Given the description of an element on the screen output the (x, y) to click on. 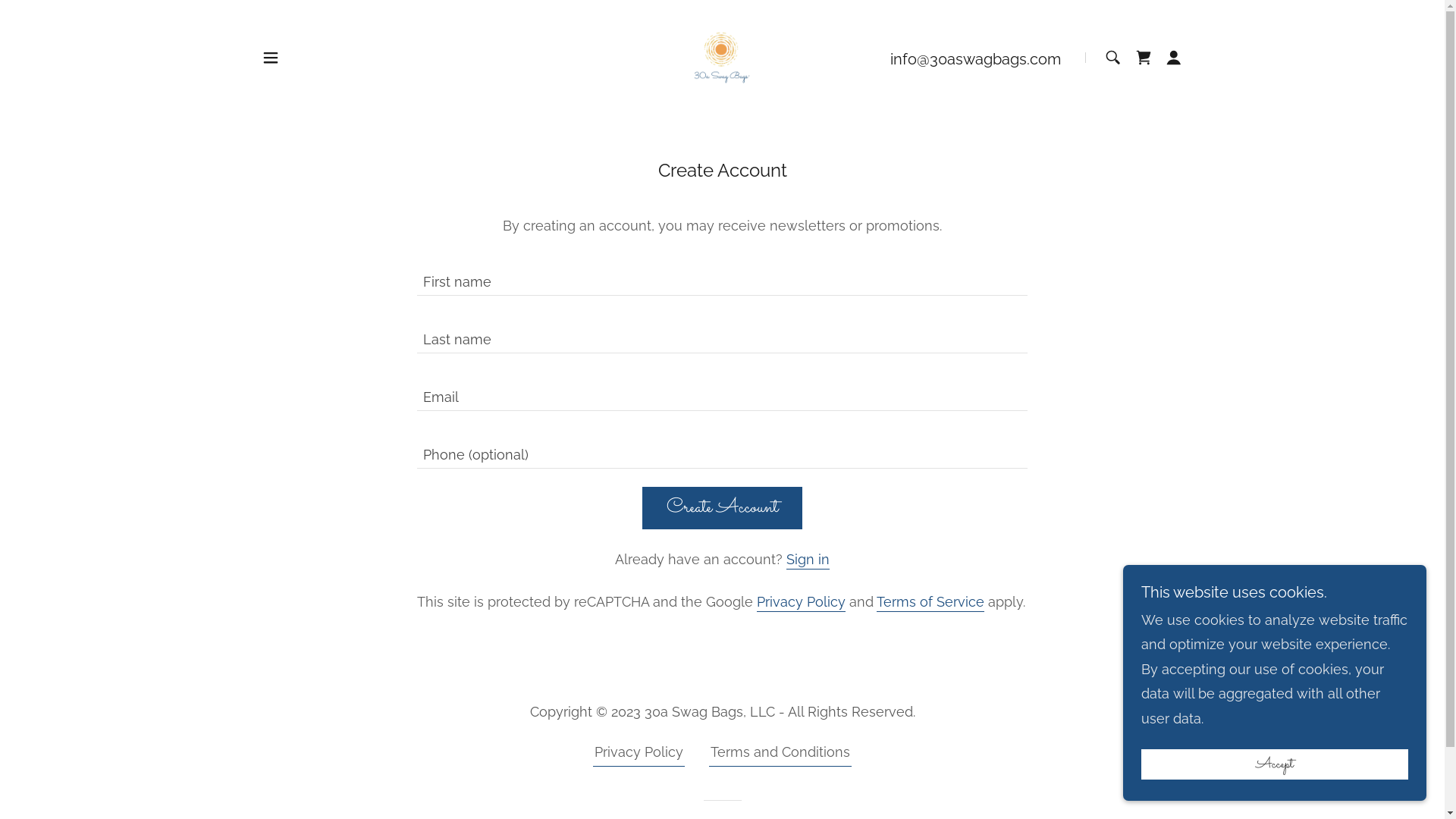
Privacy Policy Element type: text (800, 602)
info@30aswagbags.com Element type: text (975, 59)
Privacy Policy Element type: text (638, 754)
Accept Element type: text (1274, 764)
30a Swag Bags Element type: hover (721, 56)
Terms of Service Element type: text (930, 602)
Terms and Conditions Element type: text (780, 754)
Create Account Element type: text (722, 507)
Sign in Element type: text (807, 560)
